Given the description of an element on the screen output the (x, y) to click on. 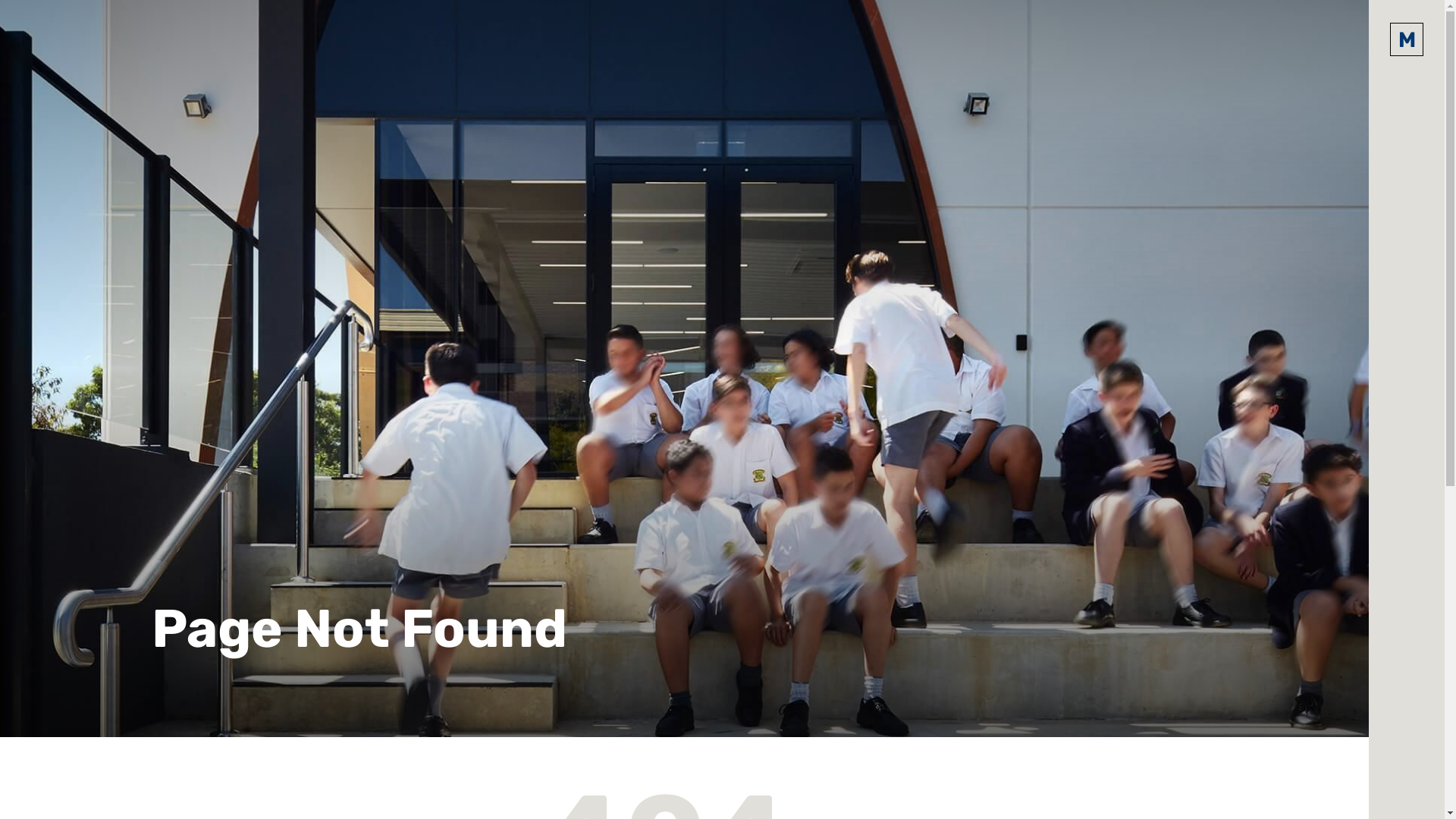
M
E
N
U Element type: text (1406, 39)
